Given the description of an element on the screen output the (x, y) to click on. 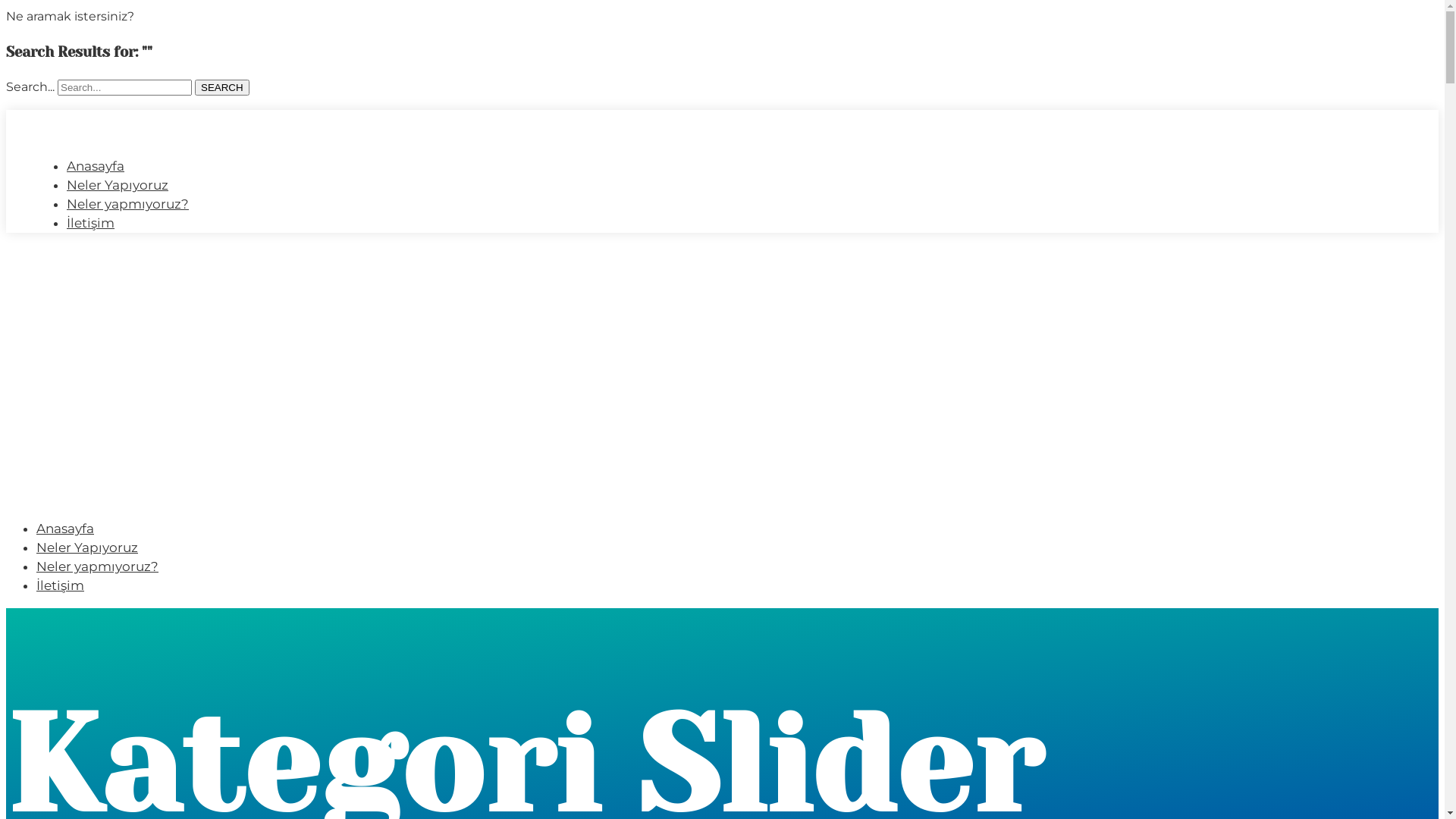
Anasayfa Element type: text (95, 165)
Anasayfa Element type: text (65, 527)
SEARCH Element type: text (221, 87)
